Given the description of an element on the screen output the (x, y) to click on. 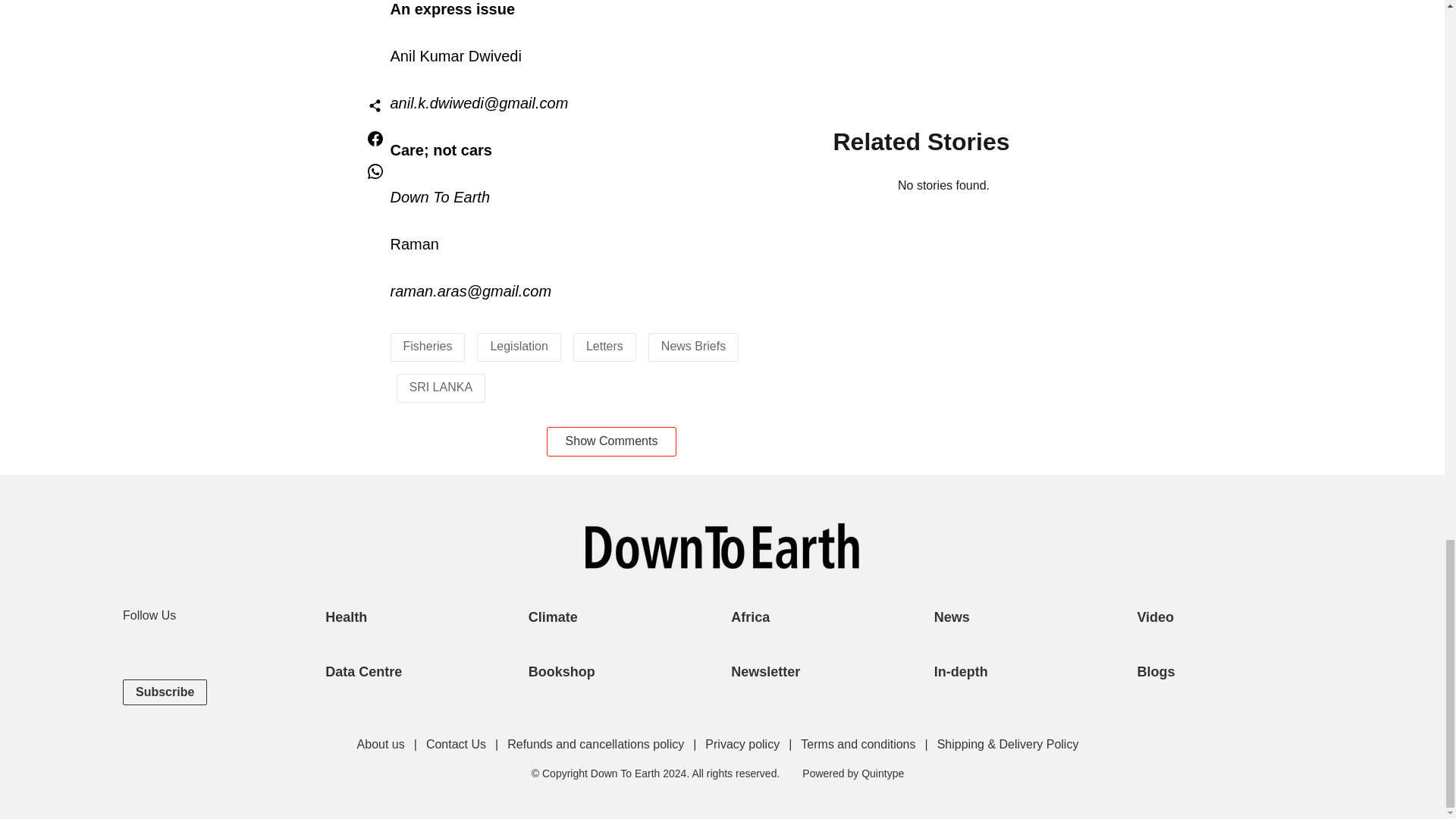
Fisheries (427, 345)
News Briefs (693, 345)
Legislation (518, 345)
SRI LANKA (441, 386)
Letters (604, 345)
